Given the description of an element on the screen output the (x, y) to click on. 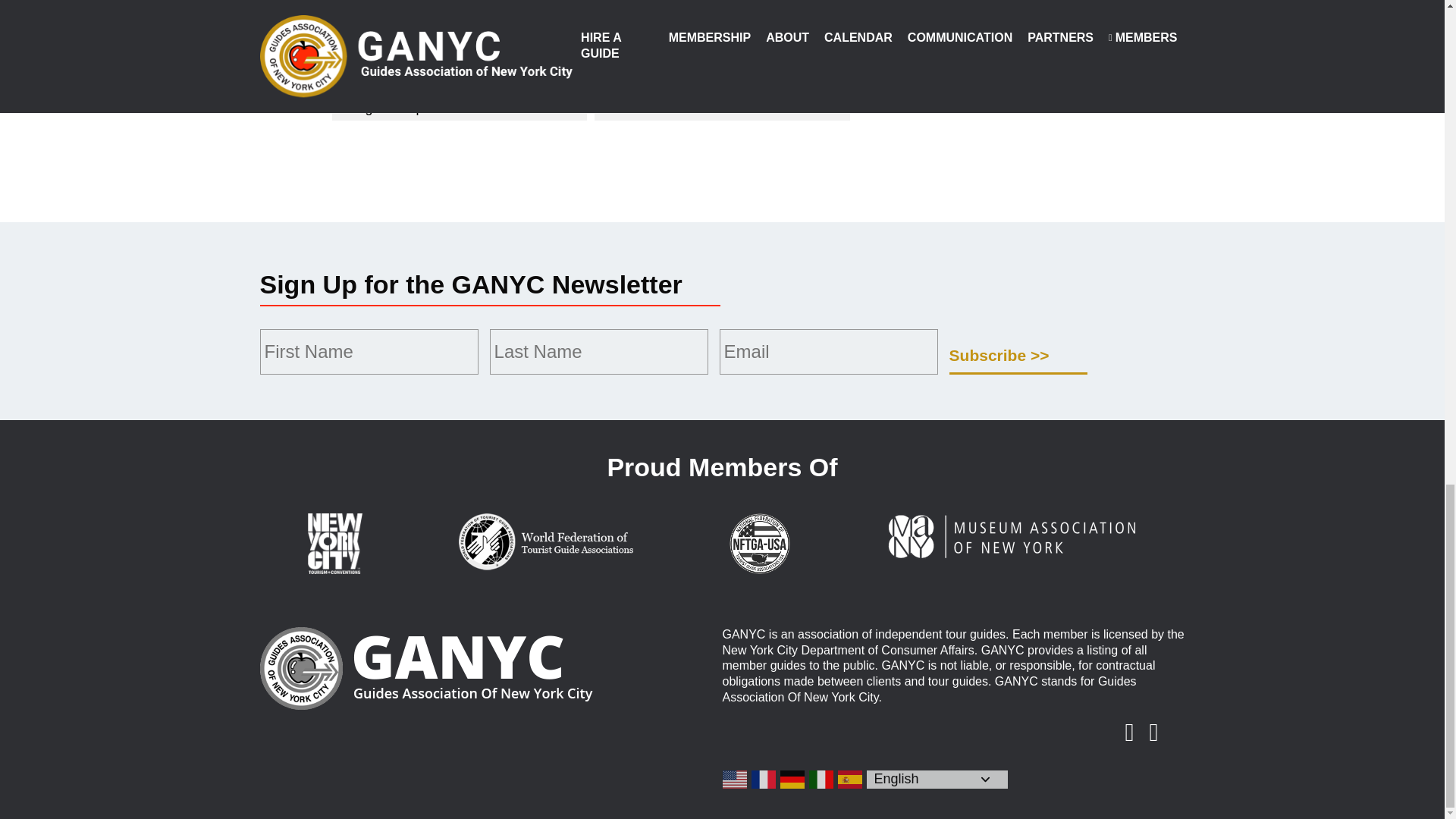
English (735, 779)
Italiano (821, 779)
Deutsch (791, 779)
